Given the description of an element on the screen output the (x, y) to click on. 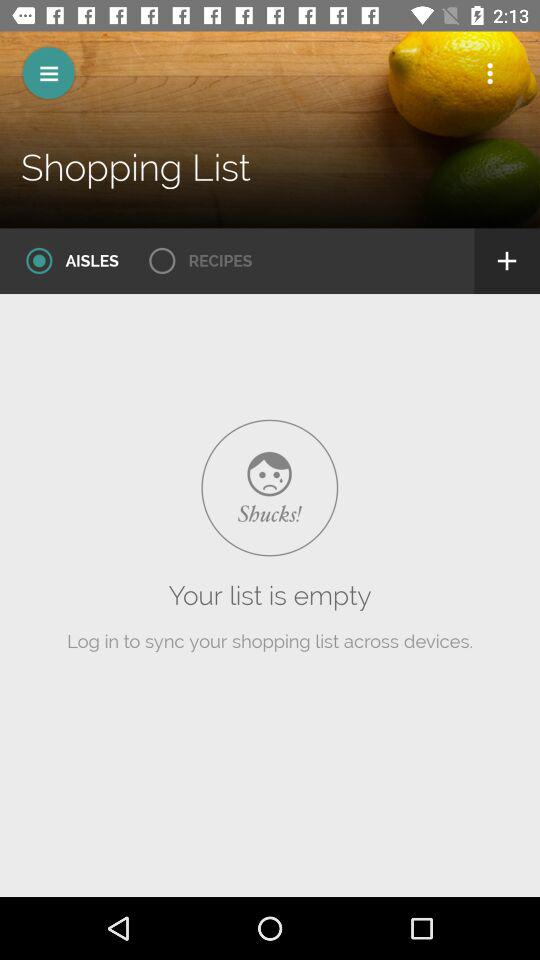
open menu (48, 72)
